Given the description of an element on the screen output the (x, y) to click on. 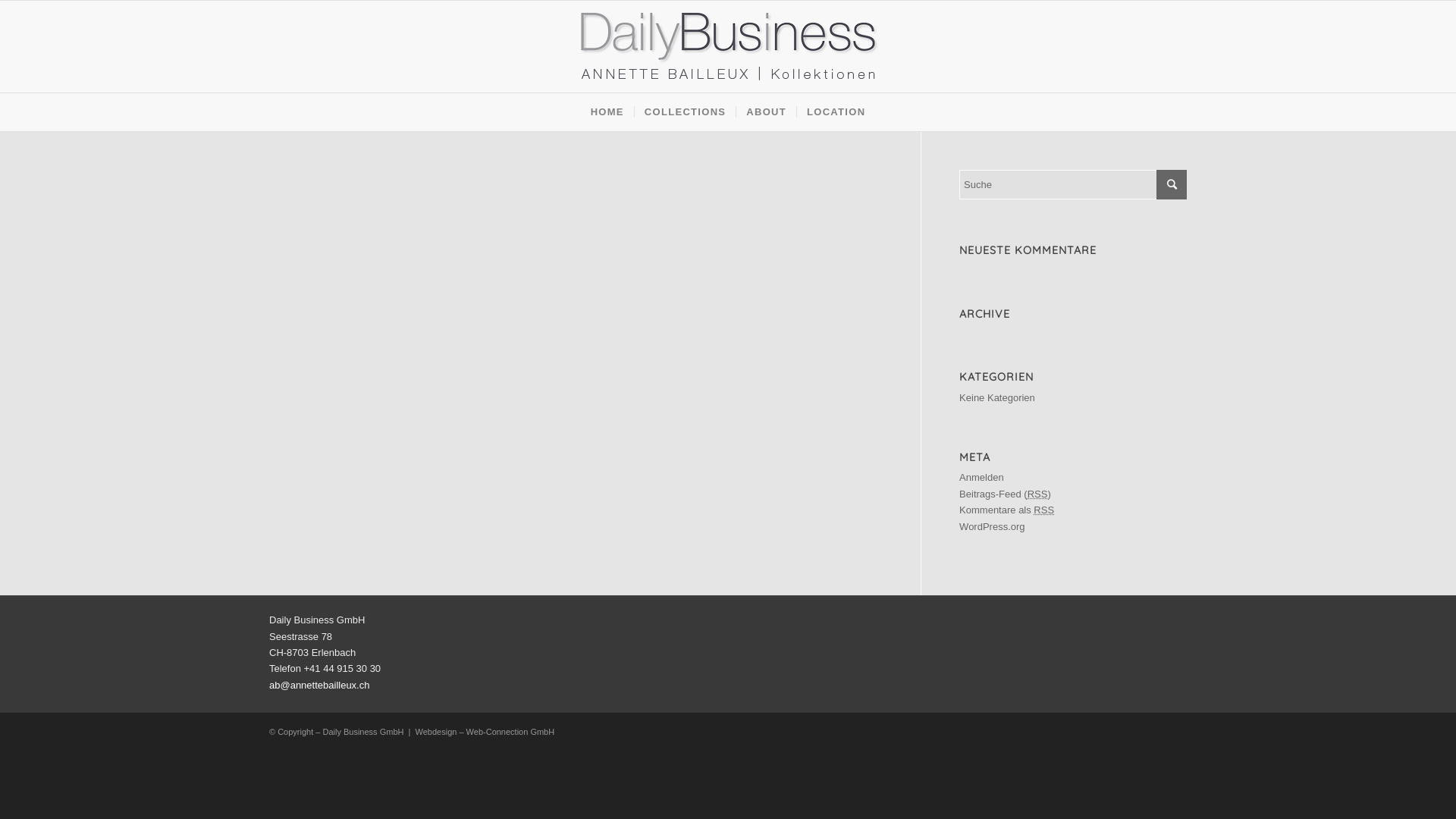
Kommentare als RSS Element type: text (1006, 509)
ab@annettebailleux.ch Element type: text (319, 684)
HOME Element type: text (606, 112)
ABOUT Element type: text (765, 112)
Daily Business GmbH Element type: text (362, 731)
COLLECTIONS Element type: text (684, 112)
LOCATION Element type: text (835, 112)
WordPress.org Element type: text (991, 526)
Anmelden Element type: text (981, 477)
Beitrags-Feed (RSS) Element type: text (1005, 493)
